Given the description of an element on the screen output the (x, y) to click on. 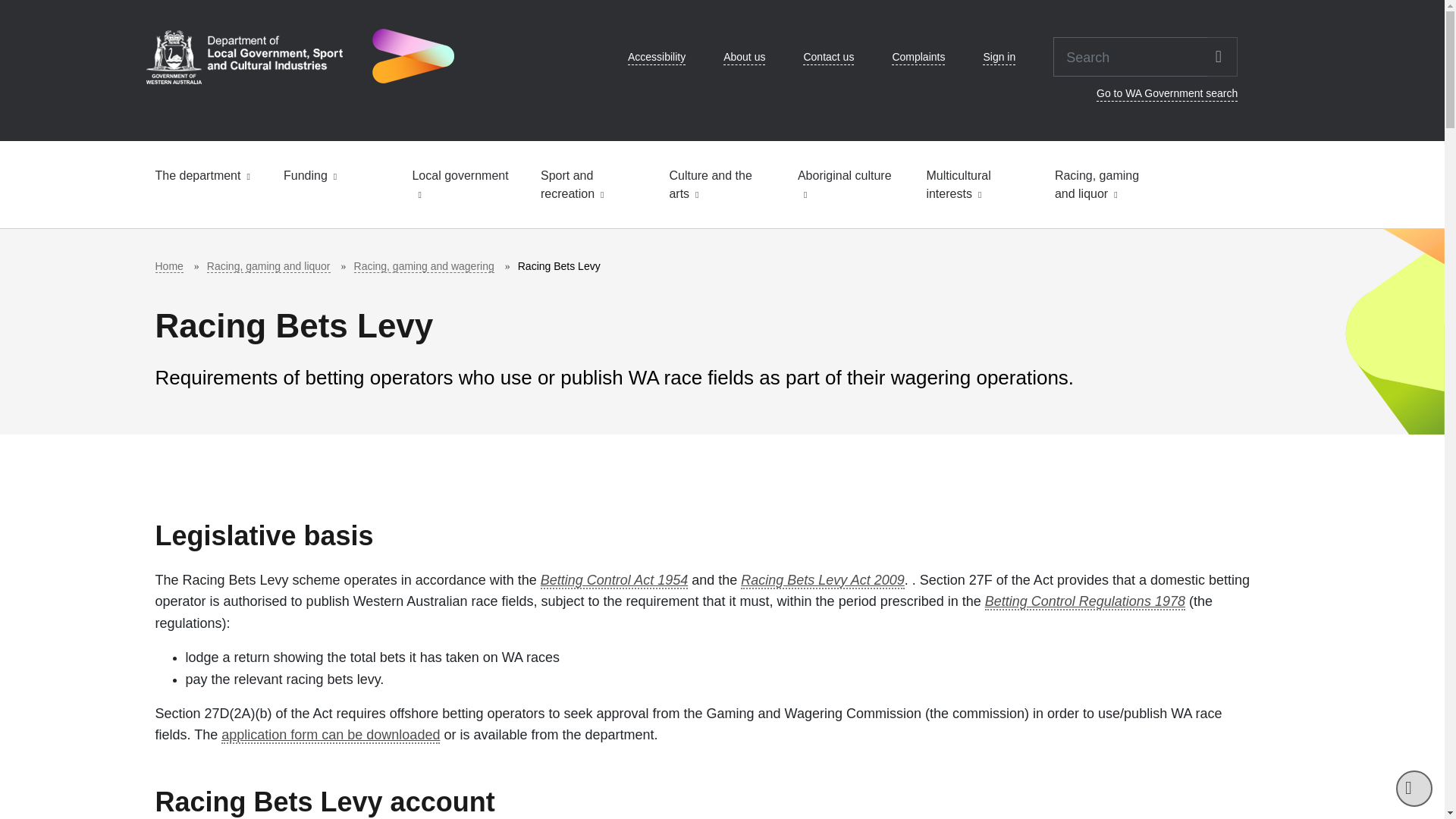
Search input (1129, 56)
Go to the dlgsc.gov.au homepage (298, 56)
Back to top (1414, 788)
